Given the description of an element on the screen output the (x, y) to click on. 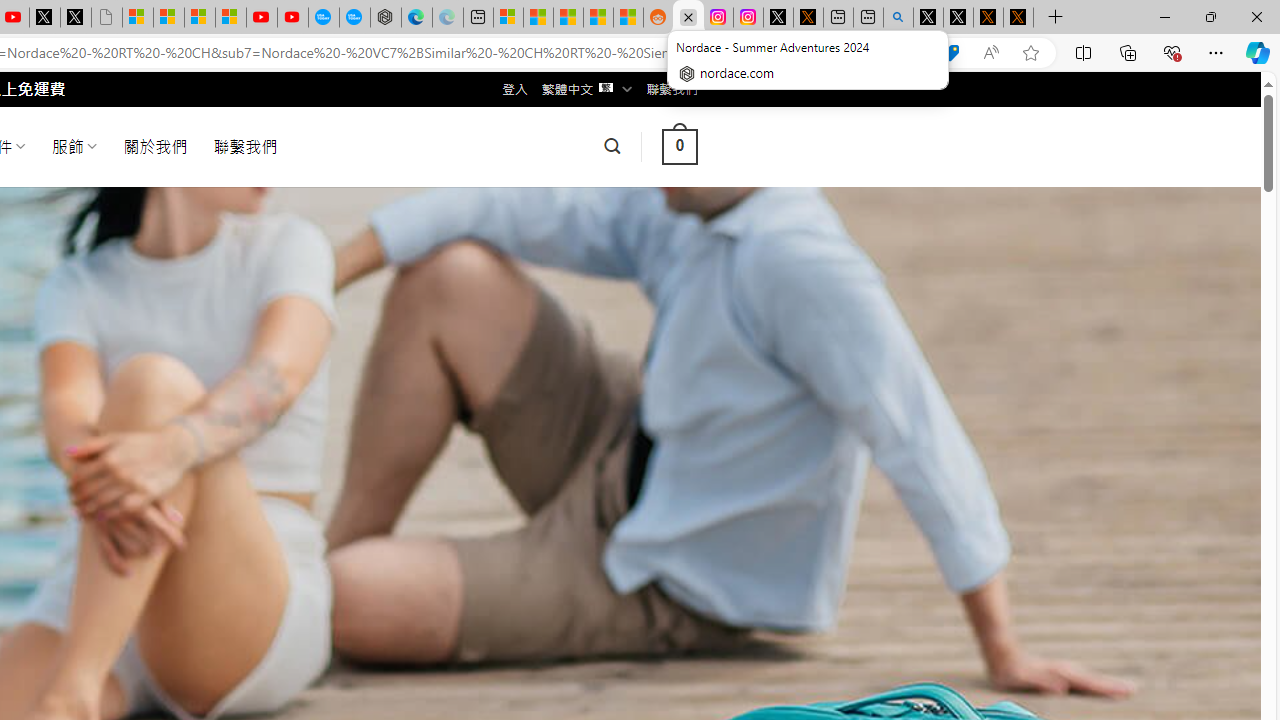
Close (1256, 16)
Log in to X / X (778, 17)
Show translate options (910, 53)
help.x.com | 524: A timeout occurred (808, 17)
YouTube Kids - An App Created for Kids to Explore Content (292, 17)
  0   (679, 146)
Minimize (1164, 16)
Collections (1128, 52)
Close tab (688, 16)
Shanghai, China hourly forecast | Microsoft Weather (568, 17)
